Given the description of an element on the screen output the (x, y) to click on. 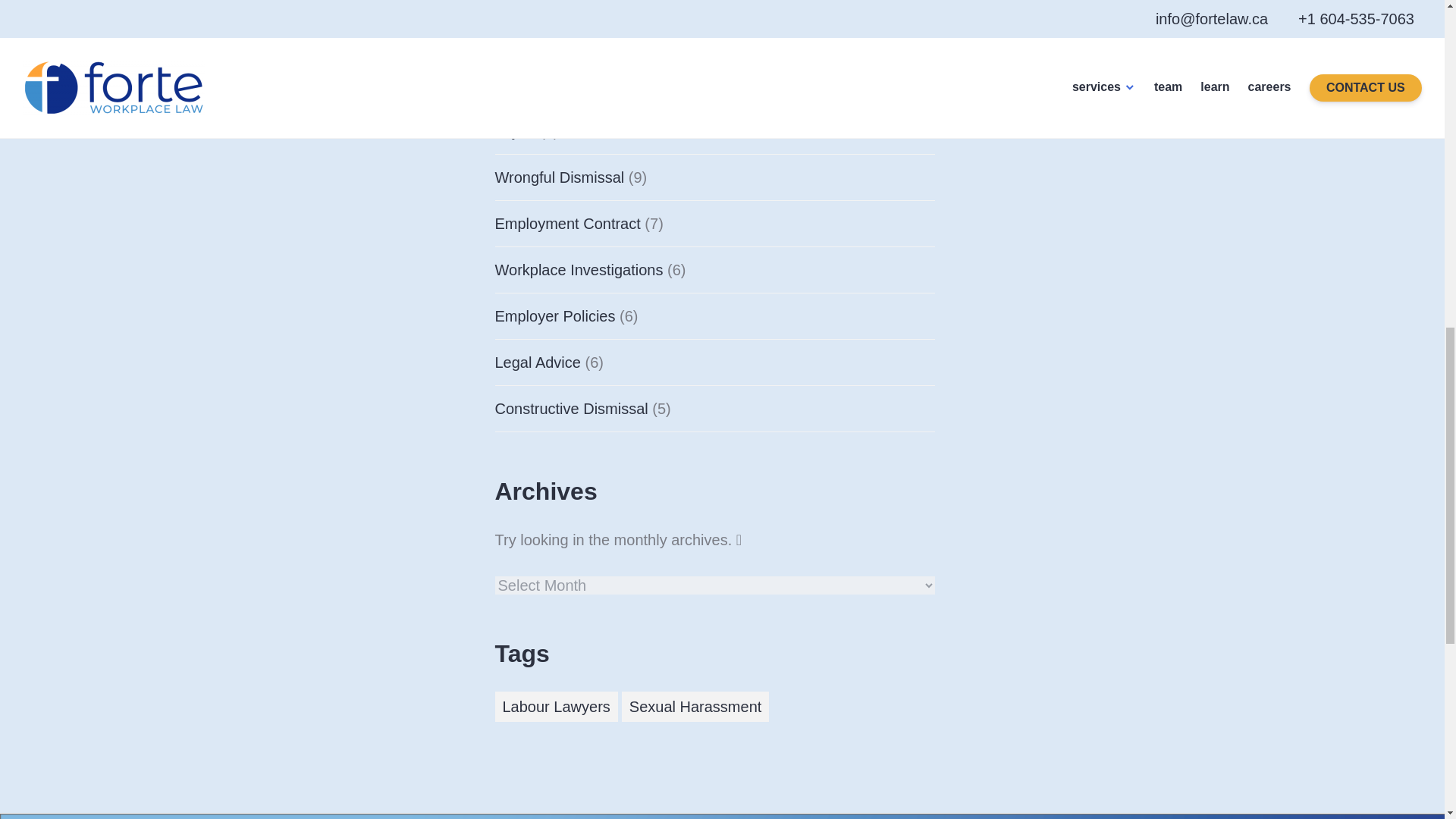
Employer Policies (554, 315)
Wrongful Dismissal (559, 176)
Layoff (515, 130)
Constructive Dismissal (571, 408)
Covid-19 (524, 38)
Employment Contract (567, 223)
Human Rights (543, 84)
Labour Lawyers (556, 706)
Workplace Investigations (578, 269)
Sexual Harassment (695, 706)
Legal Advice (537, 361)
